Given the description of an element on the screen output the (x, y) to click on. 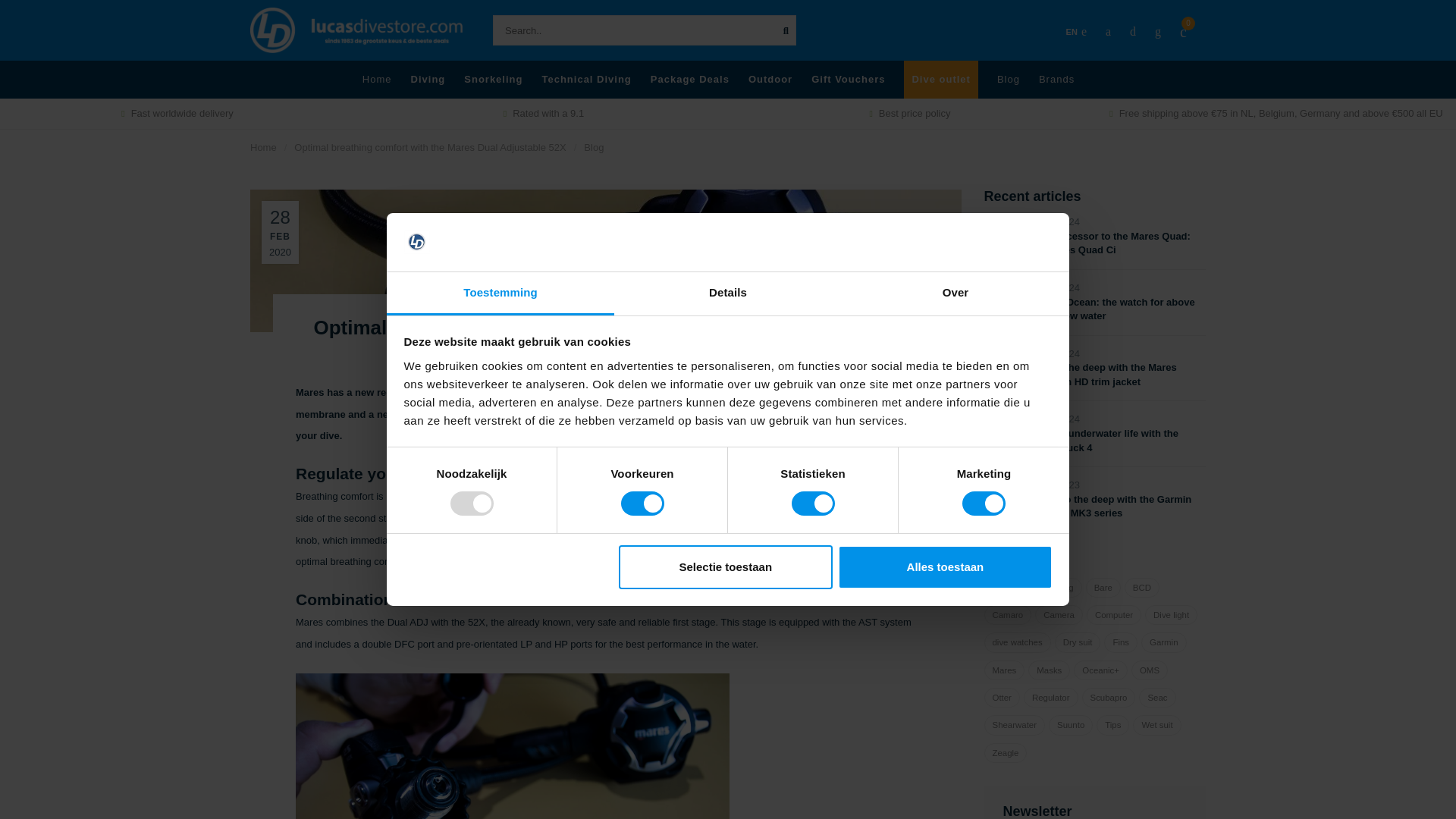
Details (727, 293)
Toestemming (500, 293)
Over (954, 293)
